Given the description of an element on the screen output the (x, y) to click on. 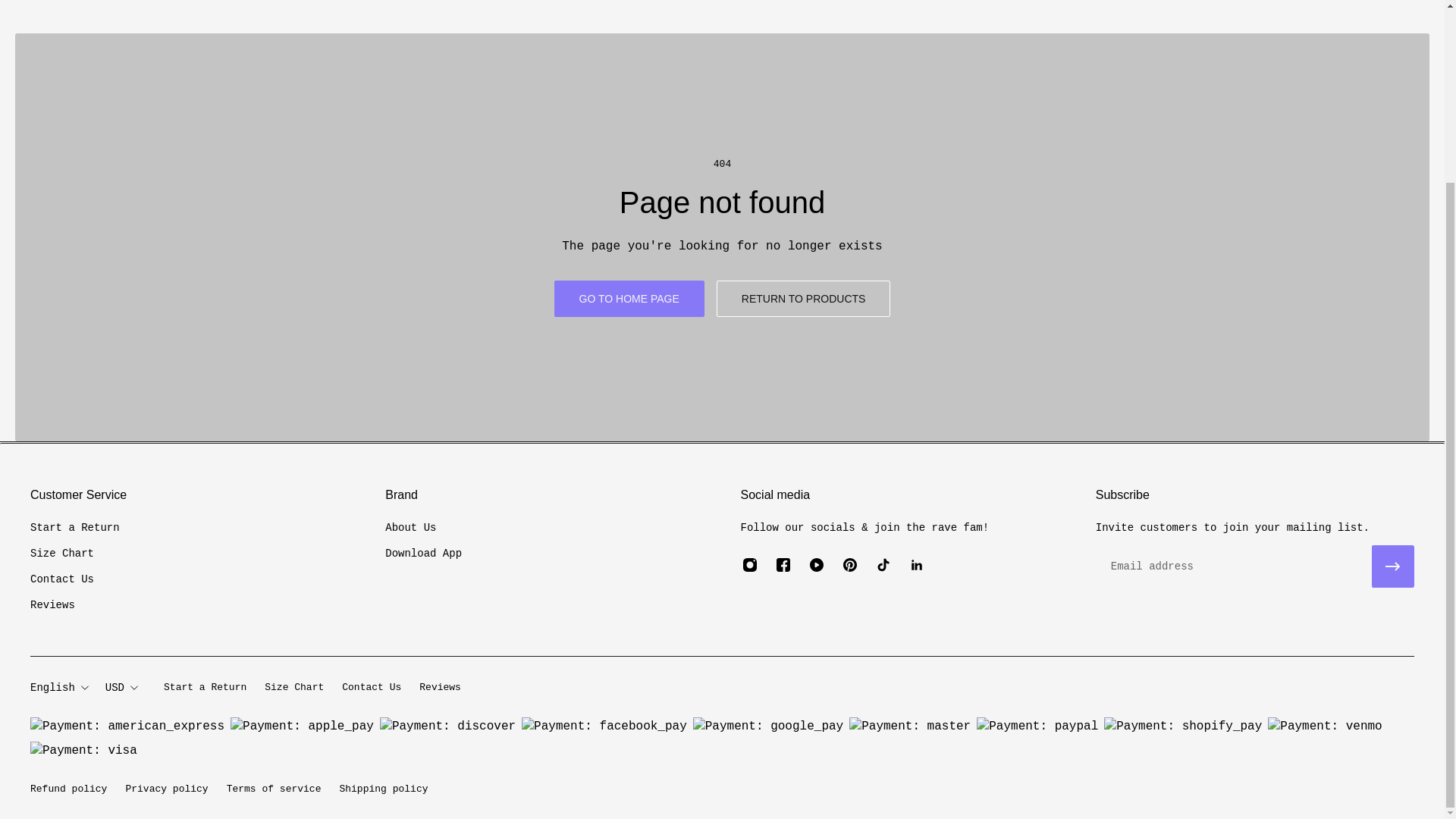
Download App (423, 553)
Start a Return (74, 527)
Size Chart (293, 687)
Size Chart (74, 553)
Contact Us (371, 687)
About Us (423, 527)
Contact Us (74, 579)
GO TO HOME PAGE (629, 298)
Reviews (440, 687)
Reviews (74, 605)
